Given the description of an element on the screen output the (x, y) to click on. 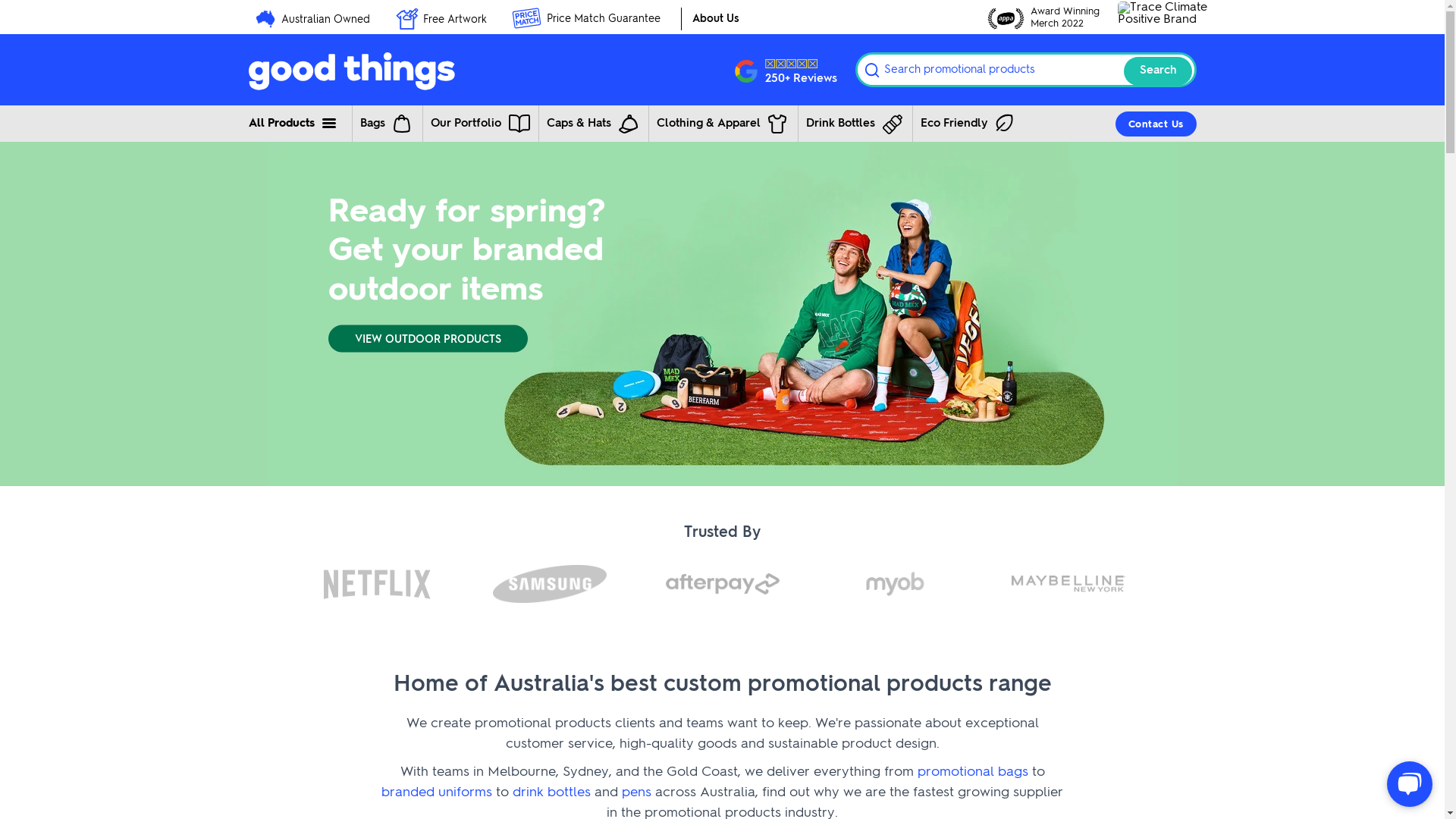
Eco Friendly Element type: text (967, 123)
About Us Element type: text (715, 18)
Price Beat Element type: hover (525, 17)
Our Portfolio Element type: text (478, 123)
Search Element type: text (1157, 70)
Award Winning
Merch 2022 Element type: text (1042, 18)
drink bottles Element type: text (551, 792)
All Products Element type: text (294, 123)
Bags Element type: text (384, 123)
Caps & Hats Element type: text (590, 123)
VIEW OUTDOOR PRODUCTS Element type: text (427, 338)
Clothing & Apparel Element type: text (721, 123)
Trusted By Element type: text (722, 533)
promotional bags Element type: text (972, 771)
Drink Bottles Element type: text (852, 123)
branded uniforms Element type: text (436, 792)
Good Things Element type: text (437, 70)
pens Element type: text (636, 792)
